Given the description of an element on the screen output the (x, y) to click on. 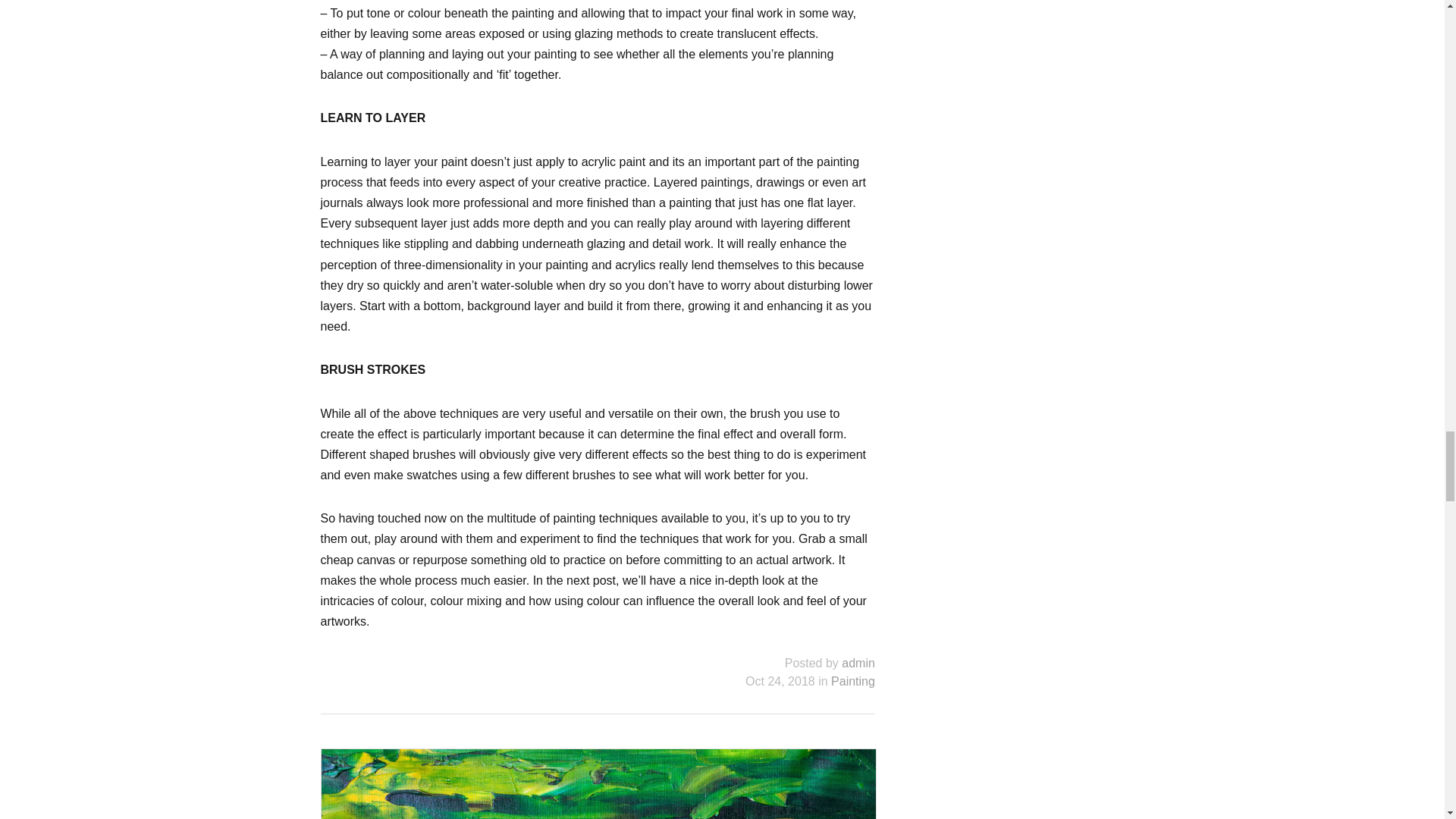
abstract-abstract-expressionism-abstract-painting-1621793 (598, 784)
admin (858, 662)
Painting (853, 680)
